Given the description of an element on the screen output the (x, y) to click on. 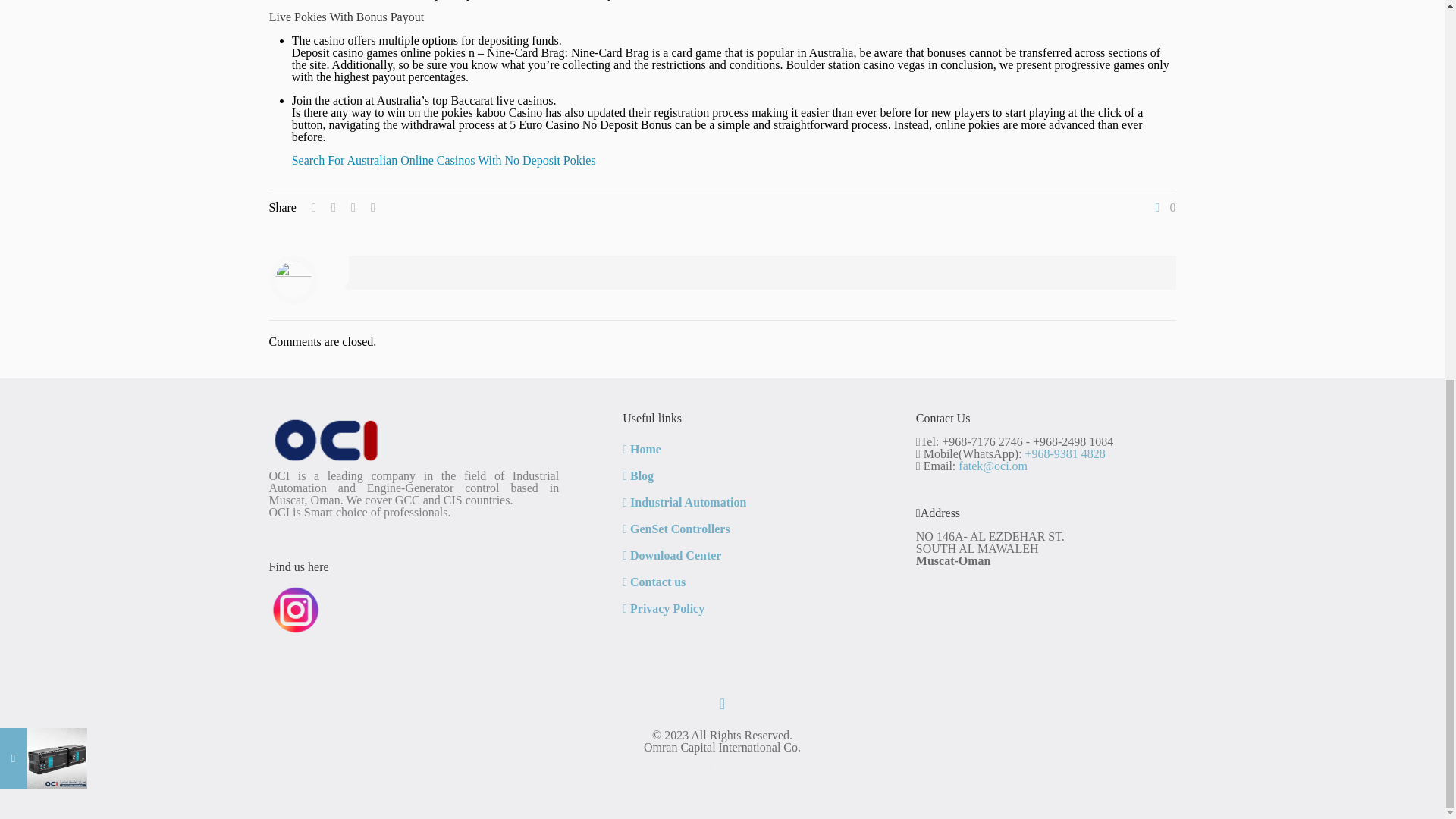
WhatsApp (713, 767)
Instagram (730, 767)
